Given the description of an element on the screen output the (x, y) to click on. 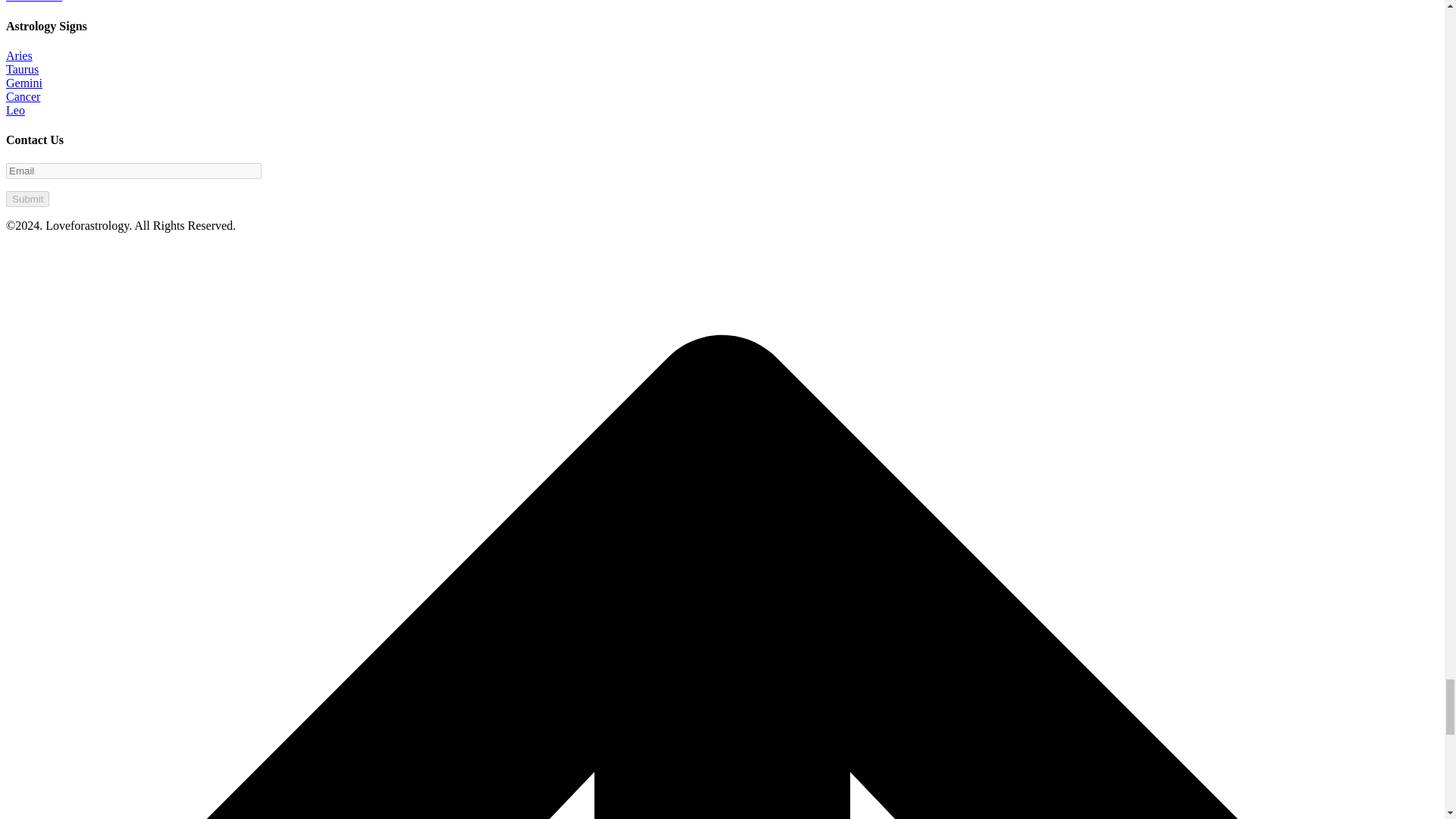
Submit (27, 198)
